Given the description of an element on the screen output the (x, y) to click on. 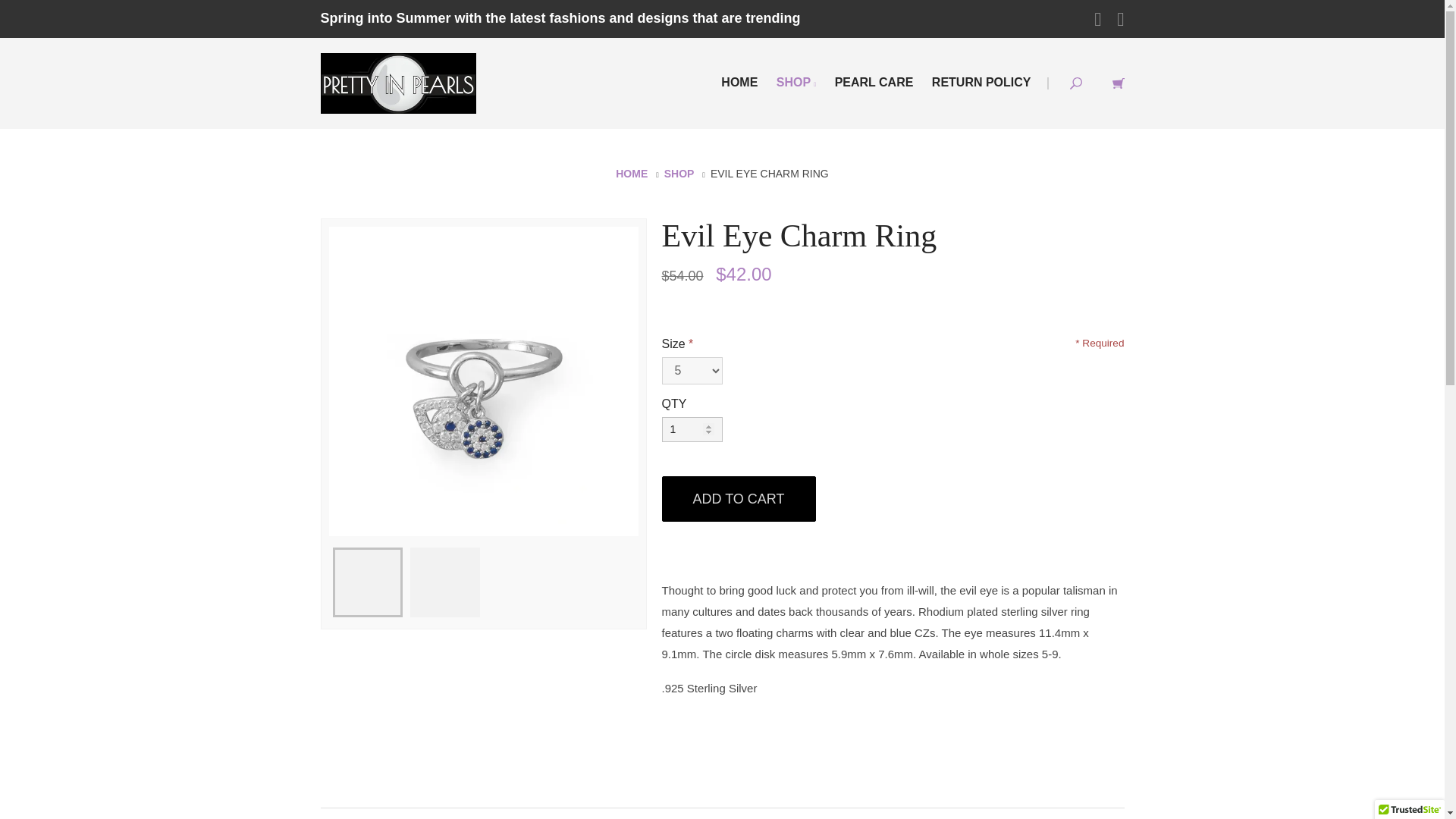
SHOP (796, 82)
HOME (631, 173)
RETURN POLICY (981, 82)
HOME (739, 82)
Add to Cart (738, 498)
PEARL CARE (874, 82)
1 (691, 429)
Add to Cart (738, 498)
SHOP (678, 173)
